Given the description of an element on the screen output the (x, y) to click on. 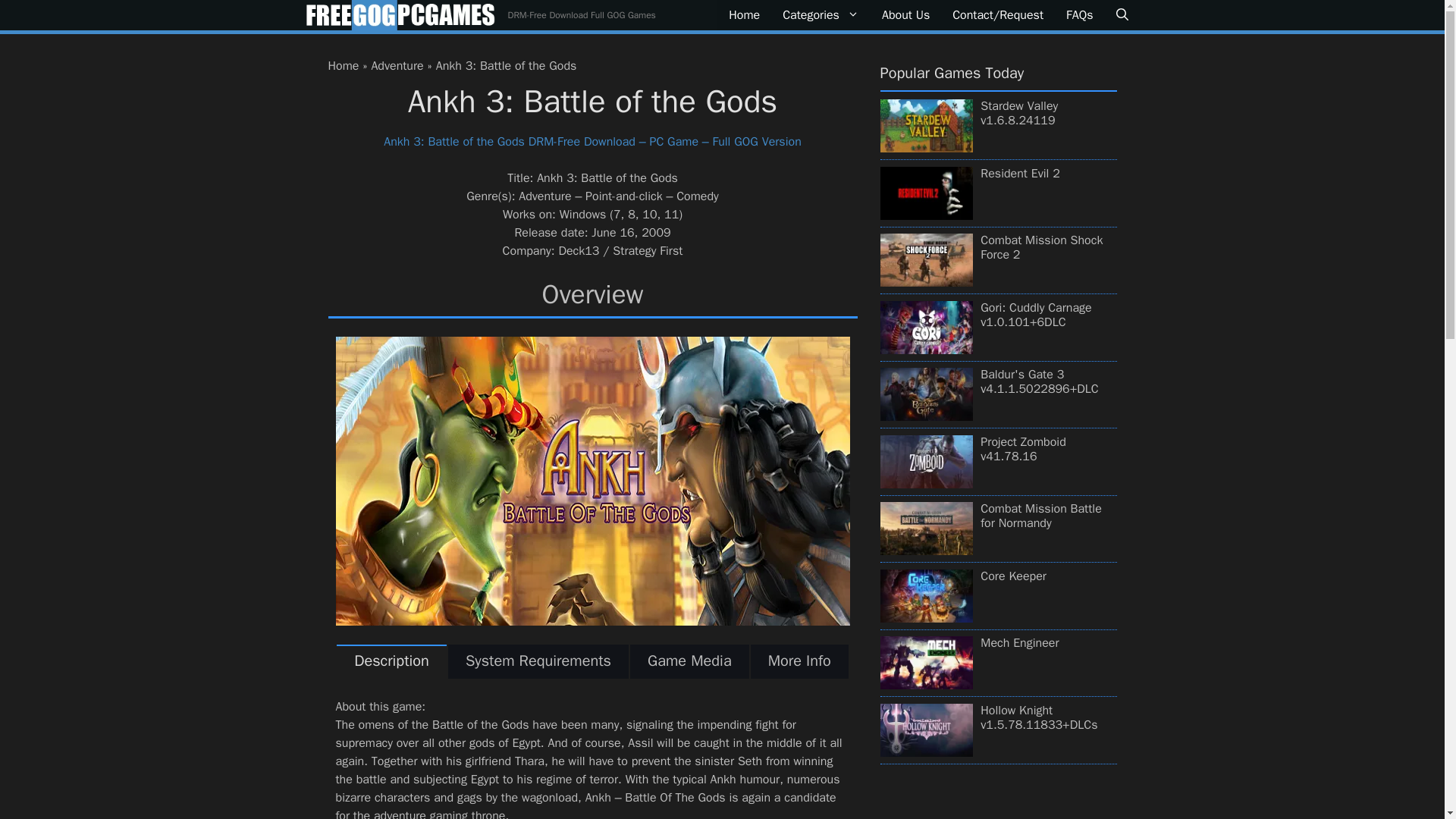
Resident Evil 2 (1019, 173)
Project Zomboid v41.78.16 (1022, 449)
Let us know your thoughts  (997, 15)
Home (342, 65)
Description (391, 661)
Categories (820, 15)
System Requirements (538, 661)
Adventure (397, 65)
Combat Mission Shock Force 2 (1040, 247)
More Info (799, 661)
